Given the description of an element on the screen output the (x, y) to click on. 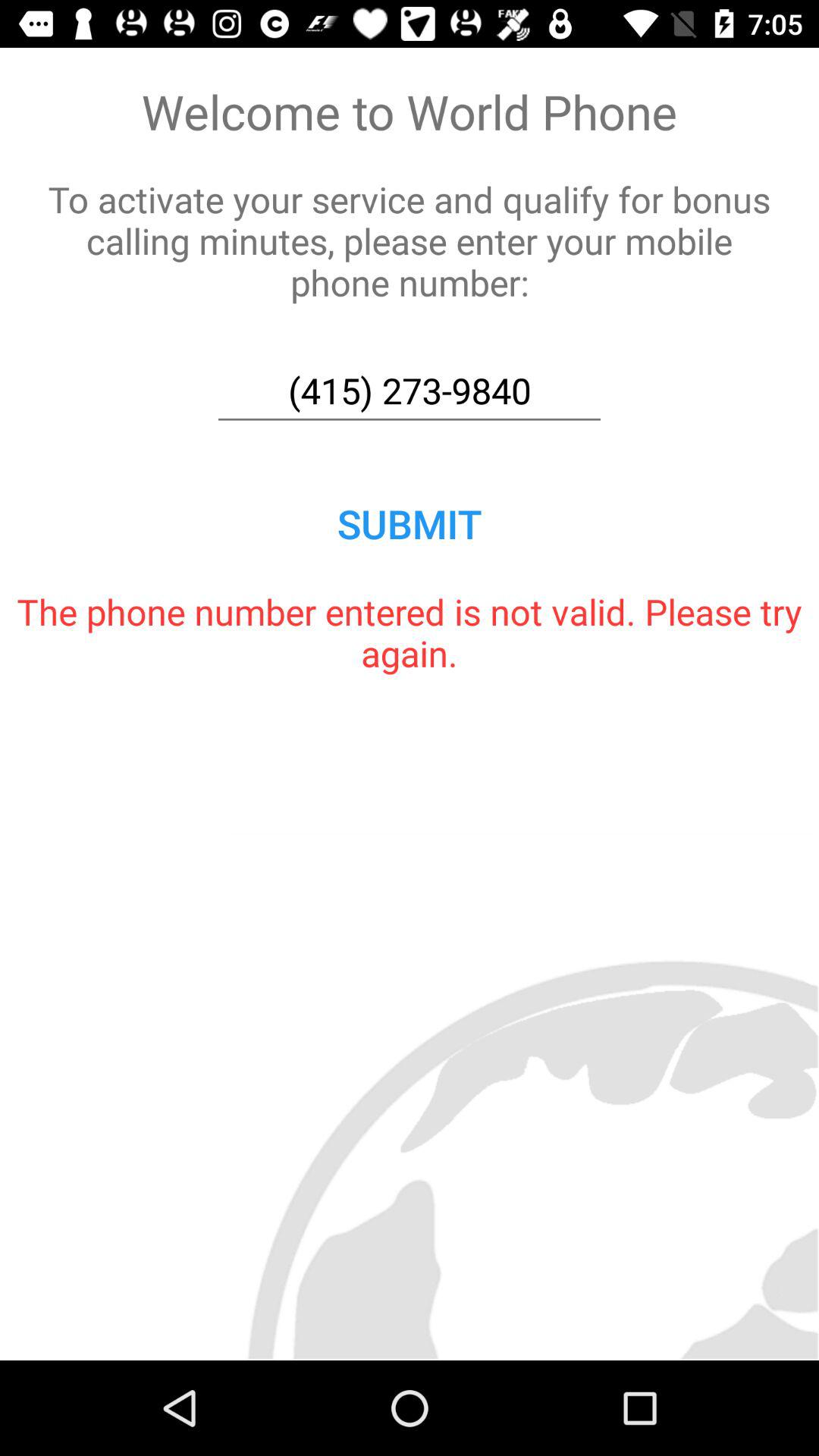
jump until the (415) 273-9840 icon (409, 391)
